Given the description of an element on the screen output the (x, y) to click on. 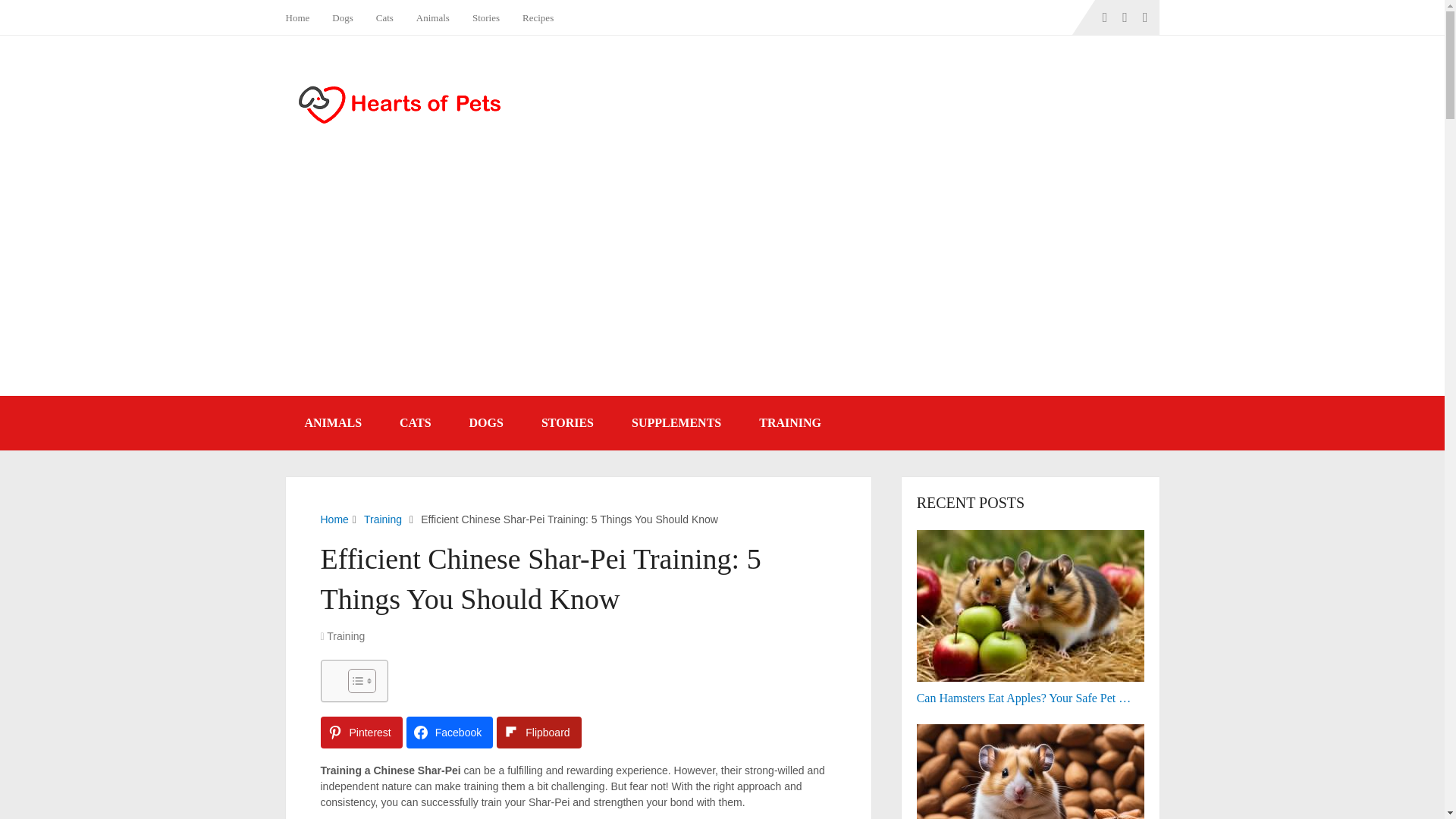
Stories (486, 17)
Training (345, 635)
DOGS (485, 422)
Home (333, 519)
Animals (432, 17)
SUPPLEMENTS (675, 422)
Training (382, 519)
STORIES (567, 422)
TRAINING (789, 422)
View all posts in Training (345, 635)
